Given the description of an element on the screen output the (x, y) to click on. 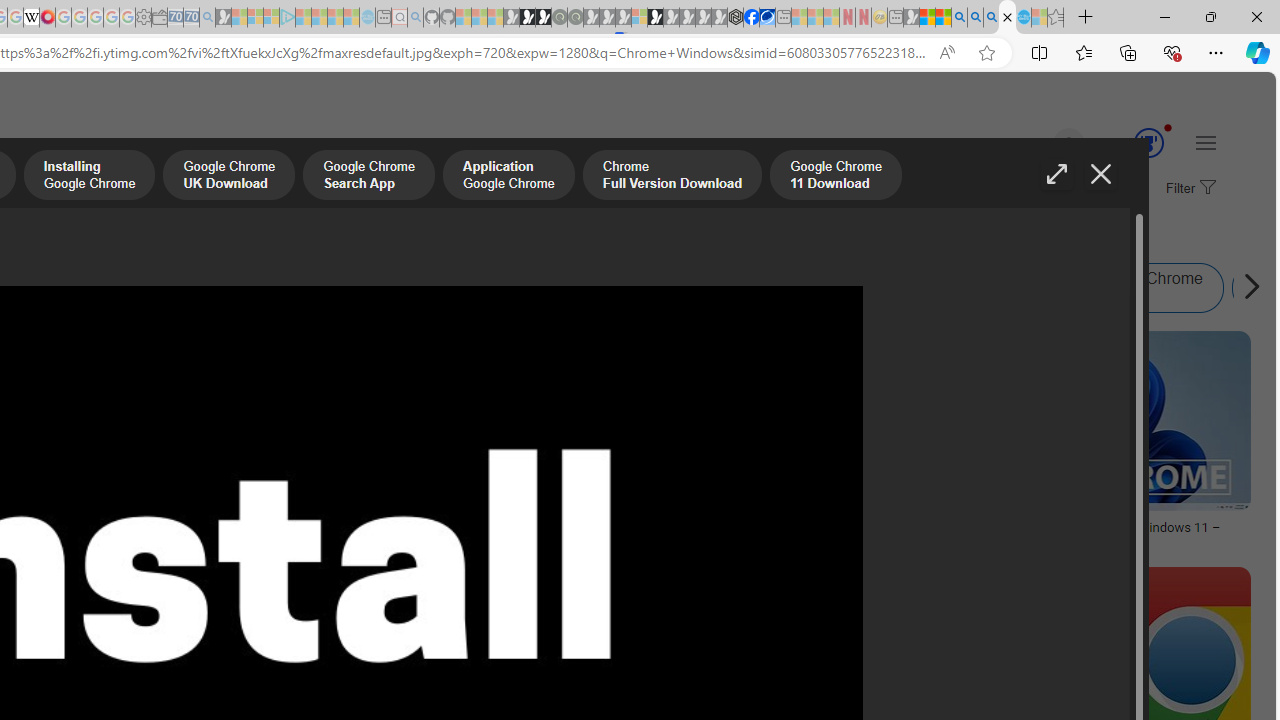
MSN - Sleeping (911, 17)
Cheap Car Rentals - Save70.com - Sleeping (191, 17)
Future Focus Report 2024 - Sleeping (575, 17)
Chrome for Windows 11 (859, 287)
Image result for Chrome Windows (590, 611)
Favorites - Sleeping (1055, 17)
Chrome OS Laptops (260, 460)
New tab - Sleeping (895, 17)
